Given the description of an element on the screen output the (x, y) to click on. 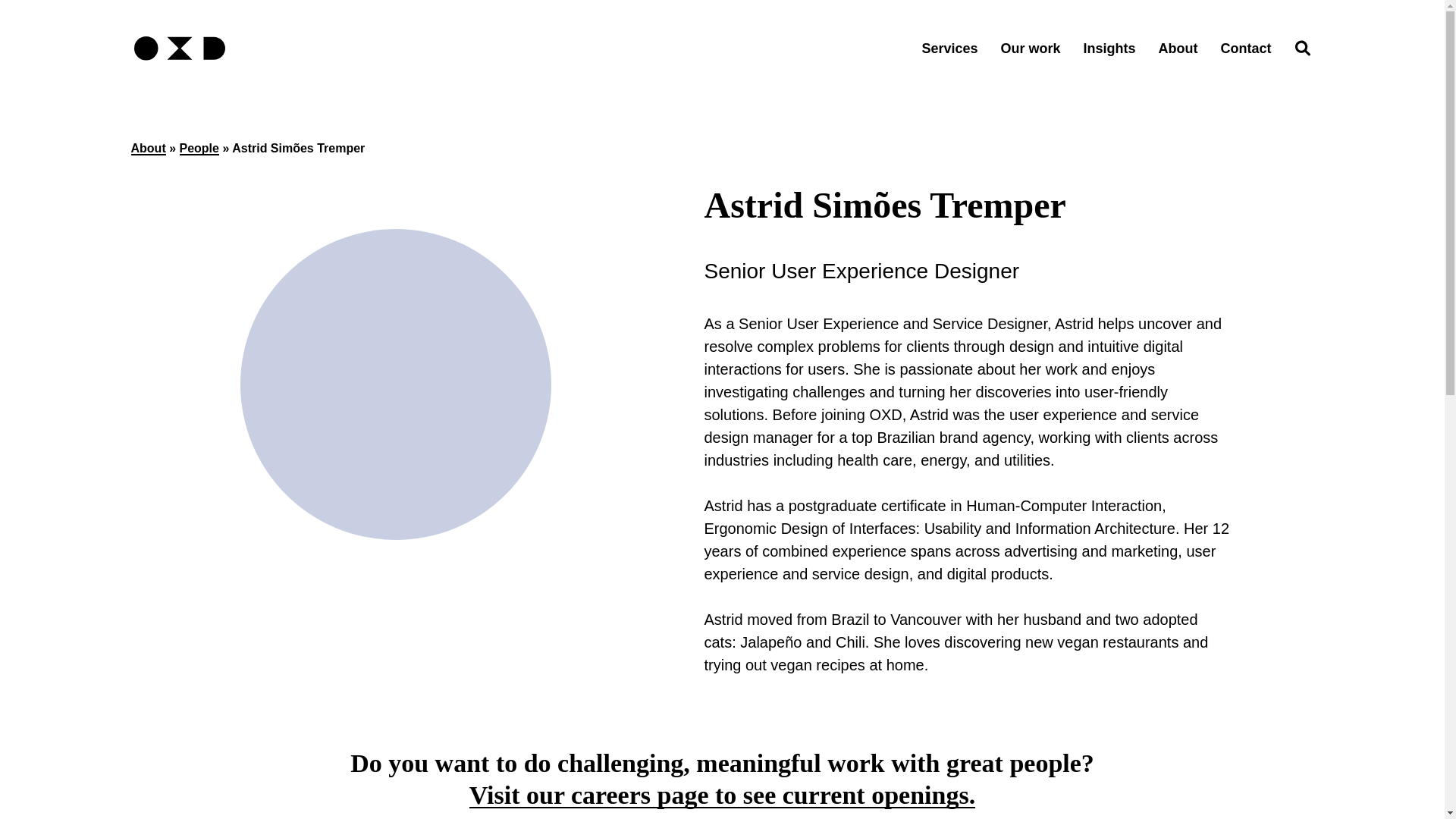
Visit our careers page to see current openings. (721, 797)
Contact (1246, 48)
Insights (1109, 48)
People (198, 149)
About (148, 149)
Services (948, 48)
Services (948, 48)
Our work (1029, 48)
Contact (1246, 48)
About (1178, 48)
